Given the description of an element on the screen output the (x, y) to click on. 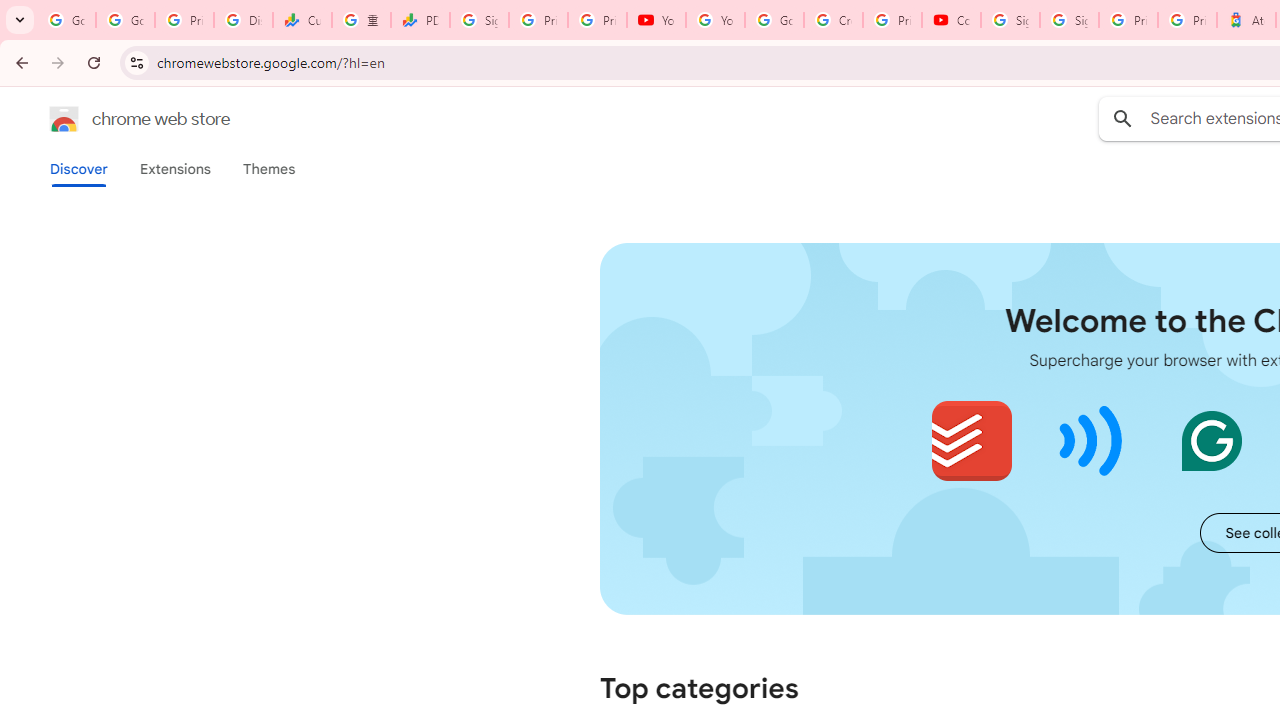
YouTube (715, 20)
Grammarly: AI Writing and Grammar Checker App (1211, 440)
Sign in - Google Accounts (1069, 20)
Sign in - Google Accounts (1010, 20)
